Given the description of an element on the screen output the (x, y) to click on. 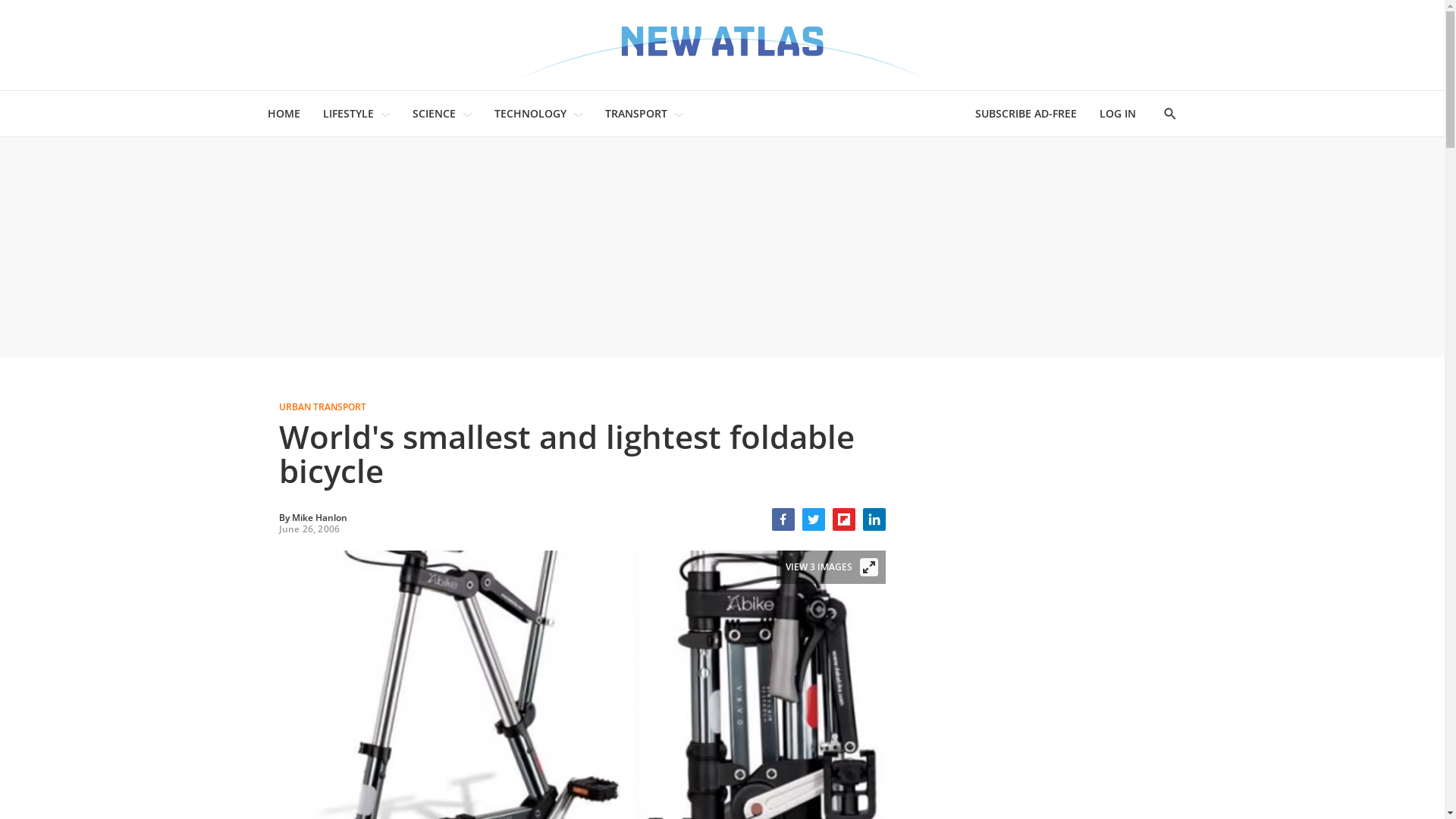
TRANSPORT Element type: text (636, 113)
Show Search Element type: text (1169, 113)
TECHNOLOGY Element type: text (530, 113)
Facebook Element type: text (782, 519)
Twitter Element type: text (813, 519)
LOG IN Element type: text (1117, 113)
URBAN TRANSPORT Element type: text (578, 406)
Flipboard Element type: text (843, 519)
HOME Element type: text (282, 113)
LinkedIn Element type: text (873, 519)
LIFESTYLE Element type: text (348, 113)
SUBSCRIBE AD-FREE Element type: text (1025, 113)
SCIENCE Element type: text (433, 113)
View full-screen Element type: hover (868, 567)
Mike Hanlon Element type: text (318, 517)
